Given the description of an element on the screen output the (x, y) to click on. 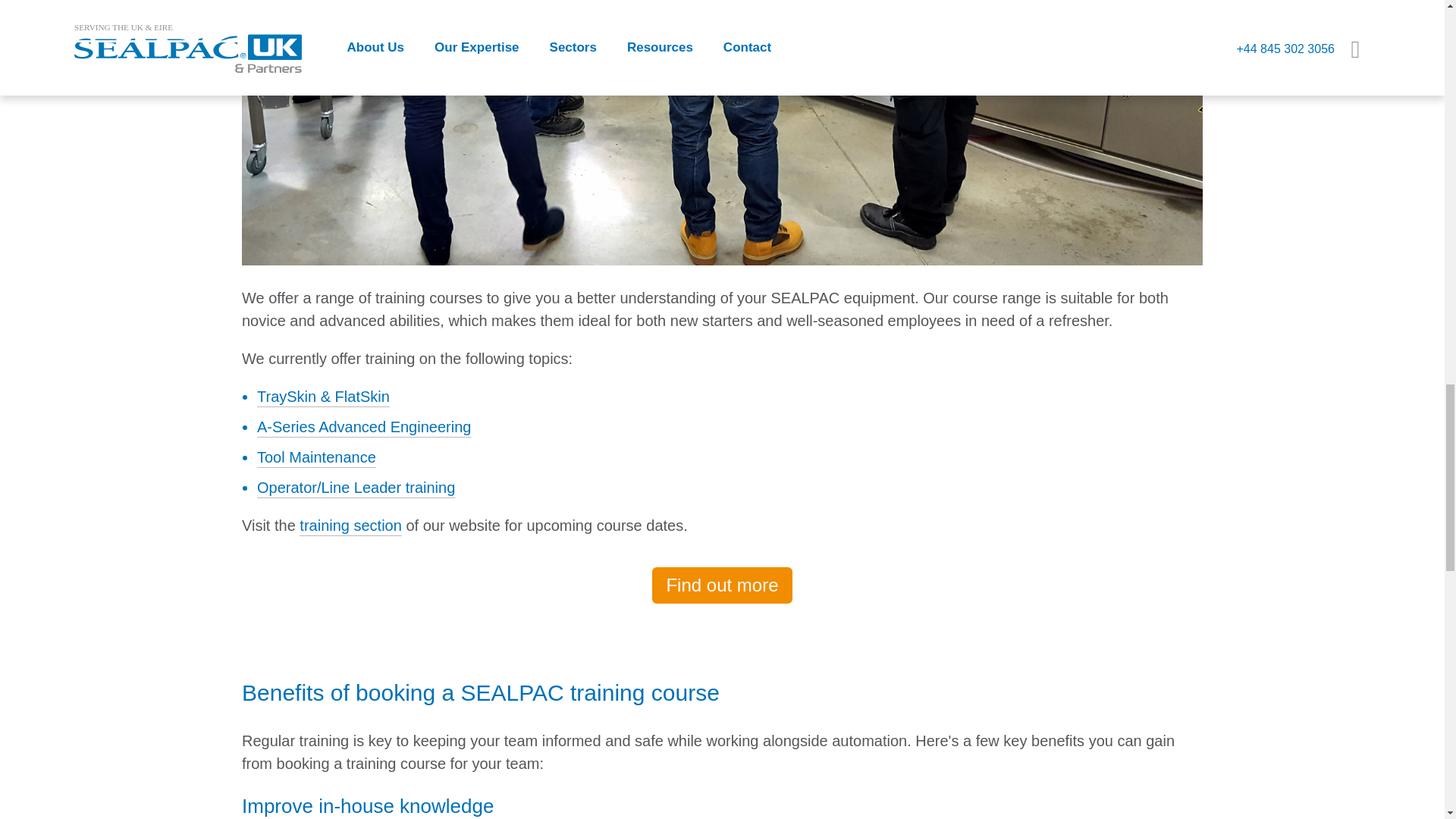
Find out more (722, 585)
